Given the description of an element on the screen output the (x, y) to click on. 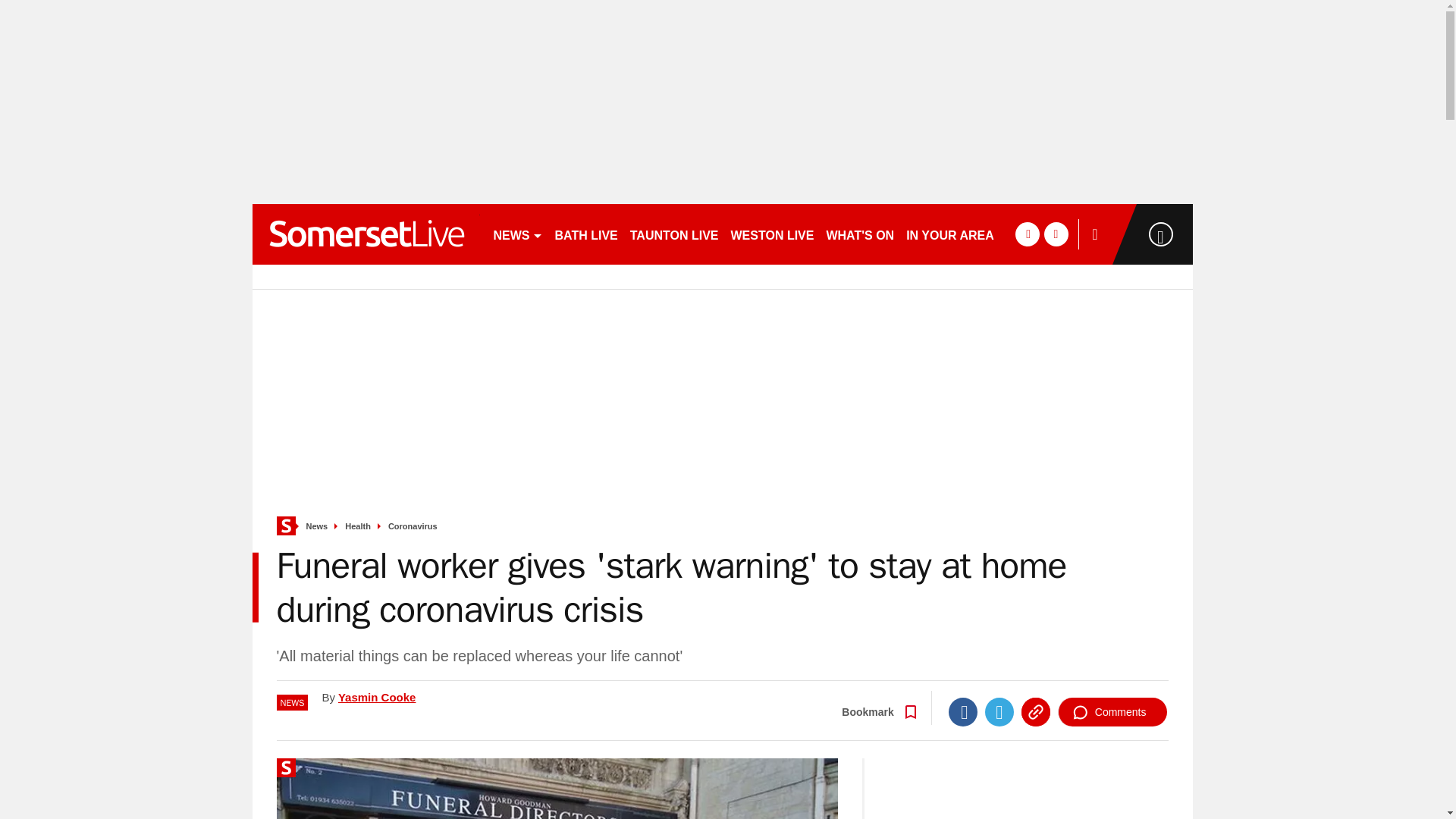
WESTON LIVE (773, 233)
TAUNTON LIVE (674, 233)
IN YOUR AREA (949, 233)
Comments (1112, 711)
WHAT'S ON (859, 233)
BATH LIVE (586, 233)
somersetlive (365, 233)
facebook (1026, 233)
Twitter (999, 711)
NEWS (517, 233)
Facebook (962, 711)
twitter (1055, 233)
